Given the description of an element on the screen output the (x, y) to click on. 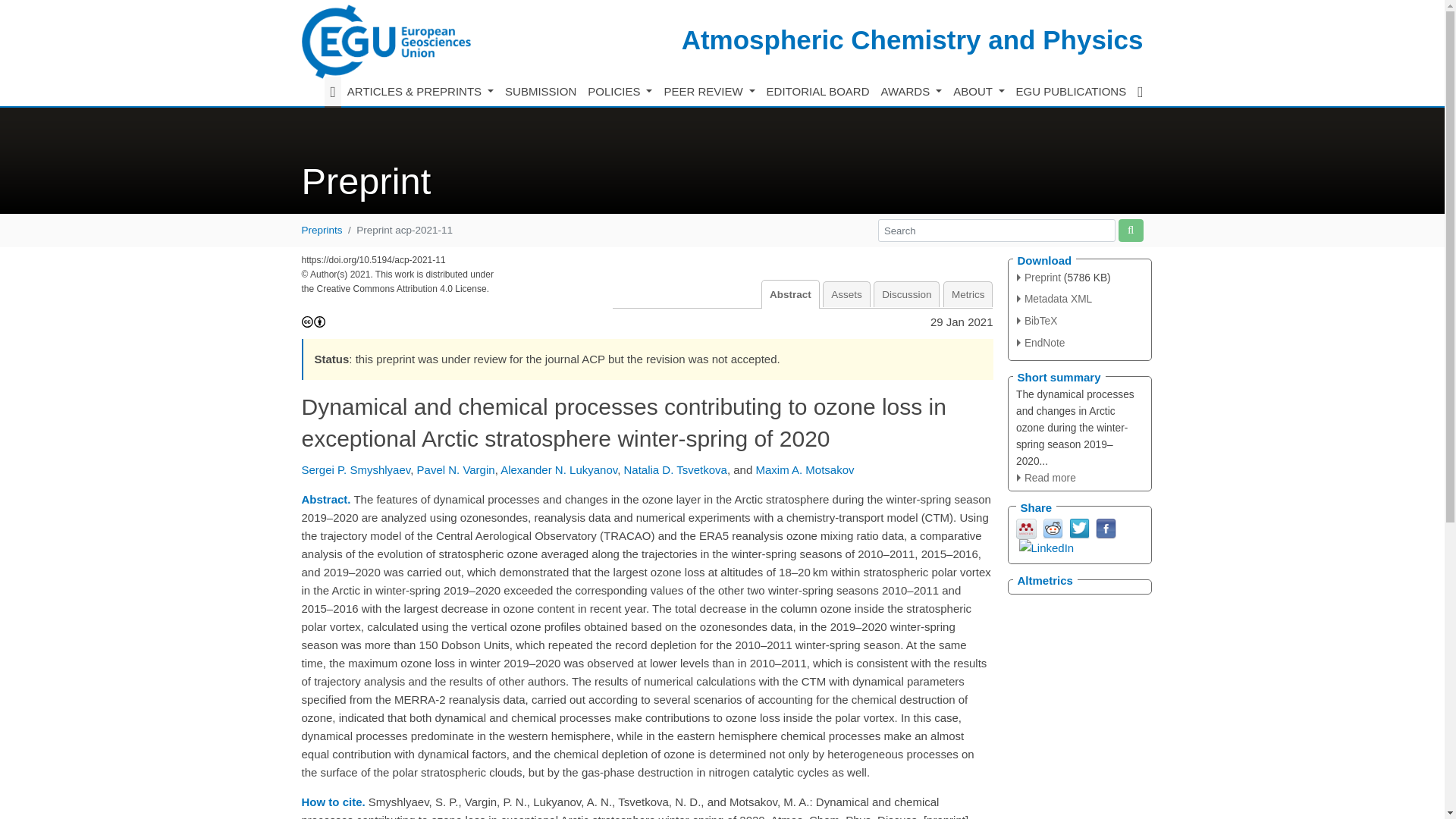
SUBMISSION (540, 91)
Atmospheric Chemistry and Physics (911, 39)
Start site search (1130, 229)
POLICIES (620, 91)
